Given the description of an element on the screen output the (x, y) to click on. 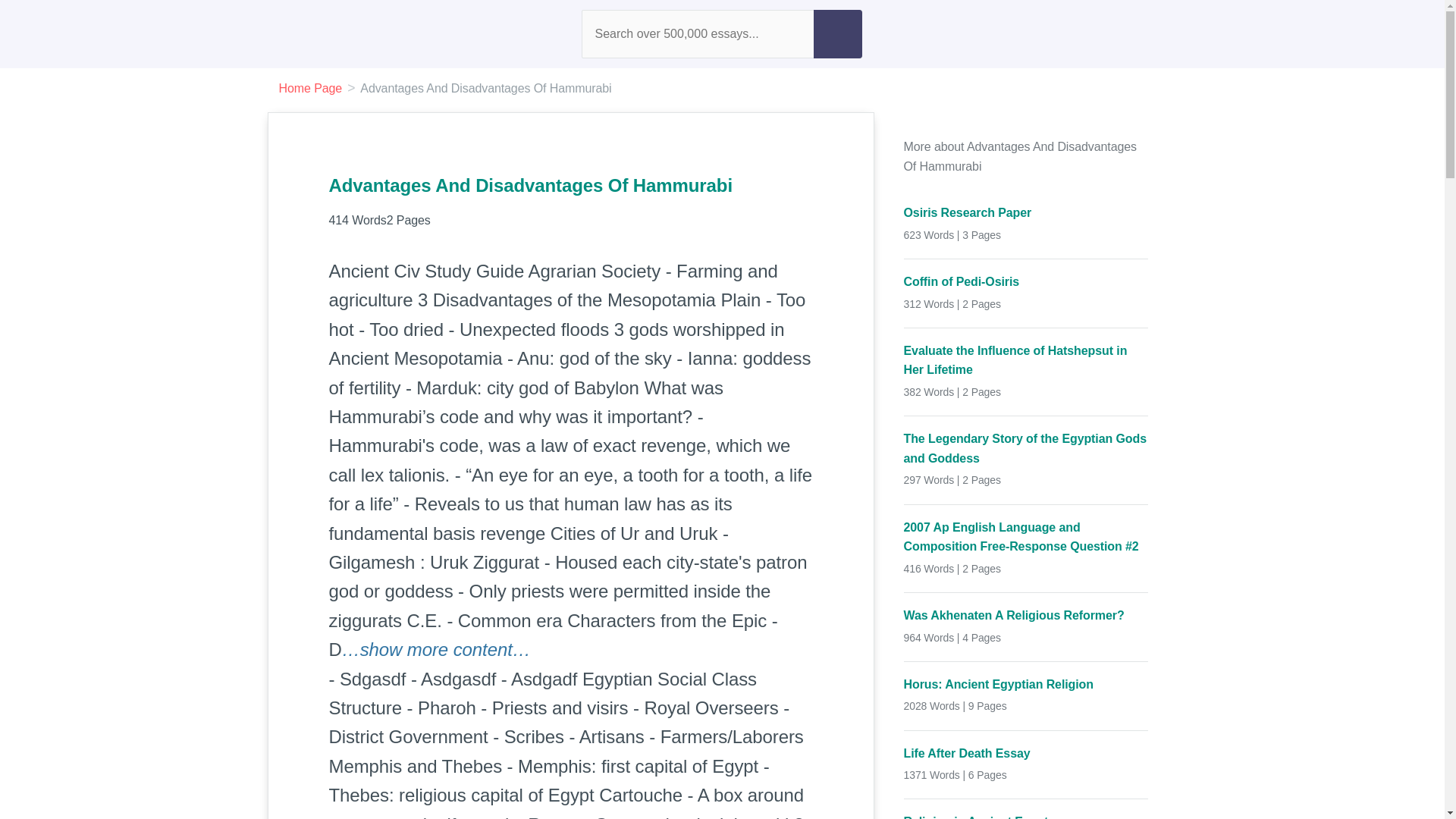
Was Akhenaten A Religious Reformer? (1026, 615)
Life After Death Essay (1026, 752)
Evaluate the Influence of Hatshepsut in Her Lifetime (1026, 360)
The Legendary Story of the Egyptian Gods and Goddess (1026, 448)
Horus: Ancient Egyptian Religion (1026, 684)
Home Page (310, 88)
Coffin of Pedi-Osiris (1026, 281)
Osiris Research Paper (1026, 212)
Religion in Ancient Egypt (1026, 815)
